Given the description of an element on the screen output the (x, y) to click on. 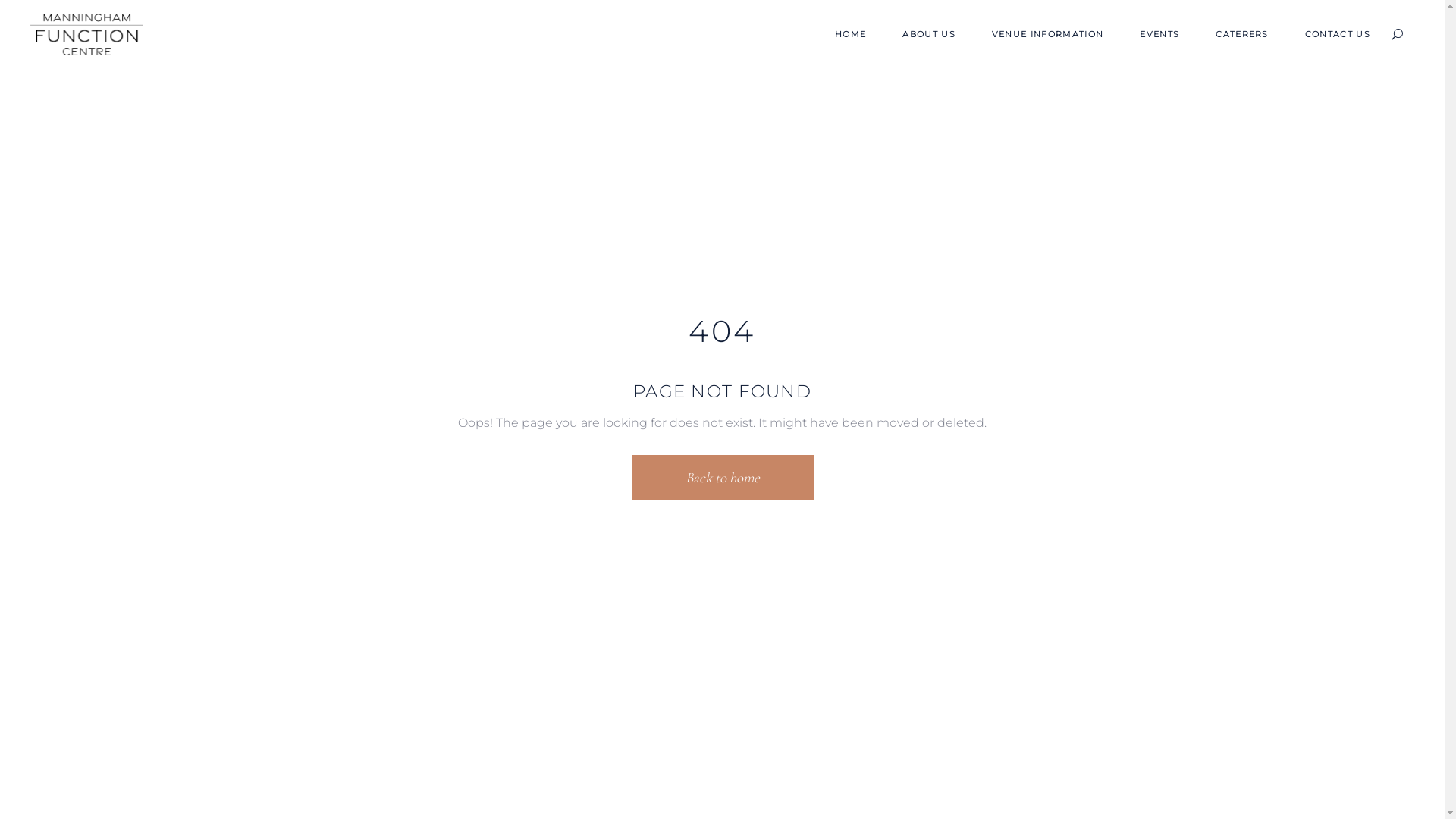
VENUE INFORMATION Element type: text (1047, 34)
CONTACT US Element type: text (1337, 34)
ABOUT US Element type: text (928, 34)
EVENTS Element type: text (1159, 34)
HOME Element type: text (850, 34)
CATERERS Element type: text (1241, 34)
Back to home Element type: text (721, 477)
